Given the description of an element on the screen output the (x, y) to click on. 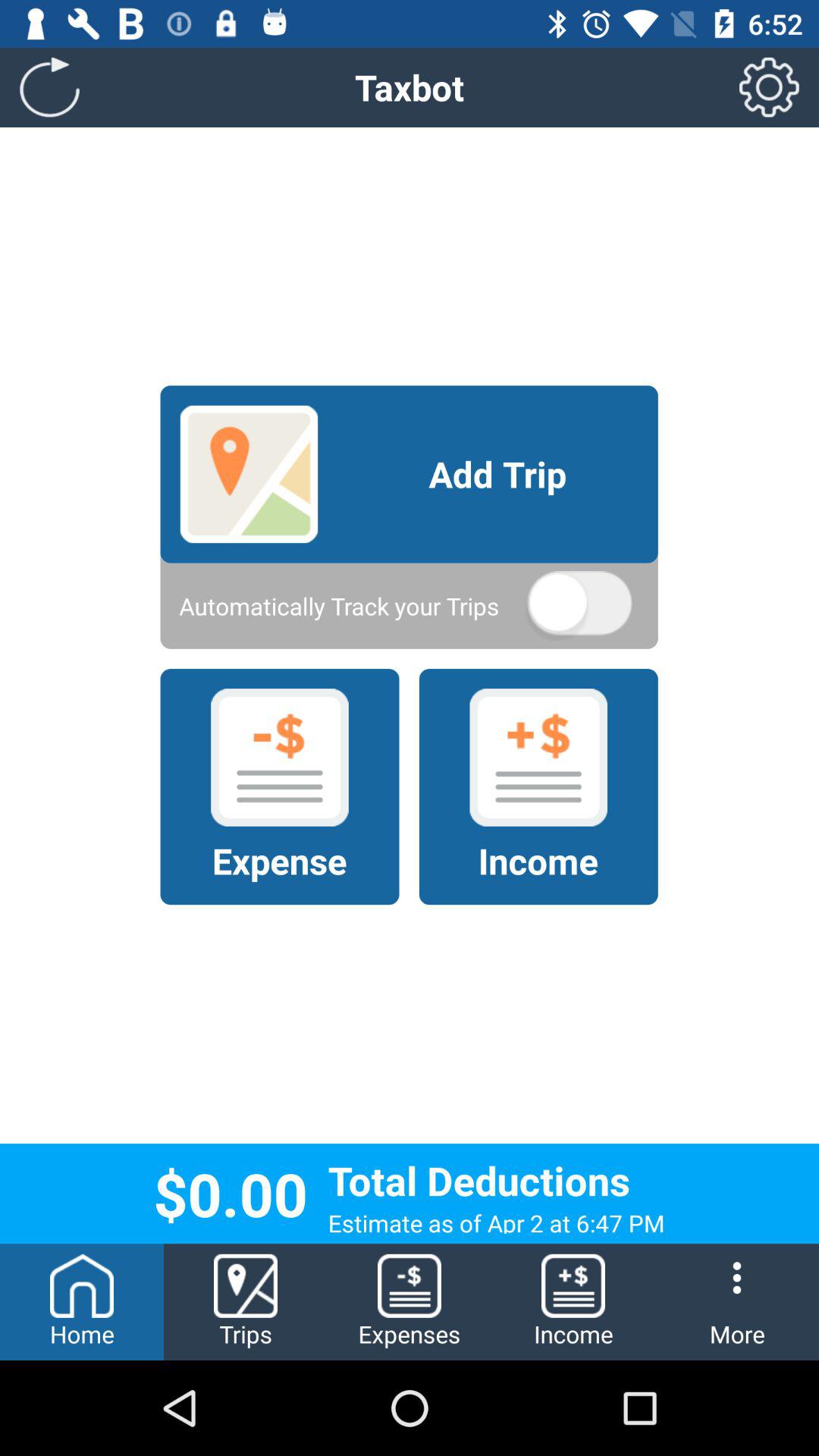
open the item to the left of the income (409, 1301)
